Given the description of an element on the screen output the (x, y) to click on. 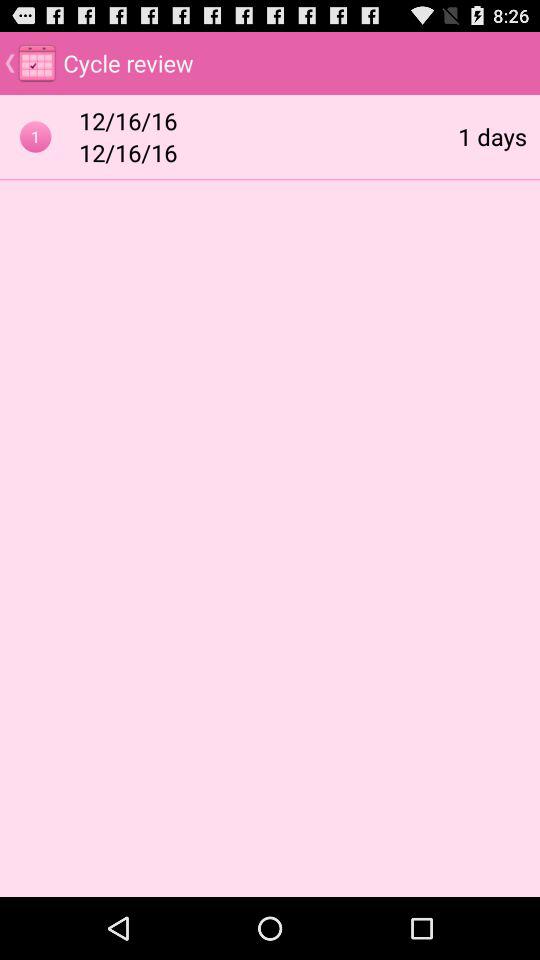
swipe to 1 days app (492, 136)
